Given the description of an element on the screen output the (x, y) to click on. 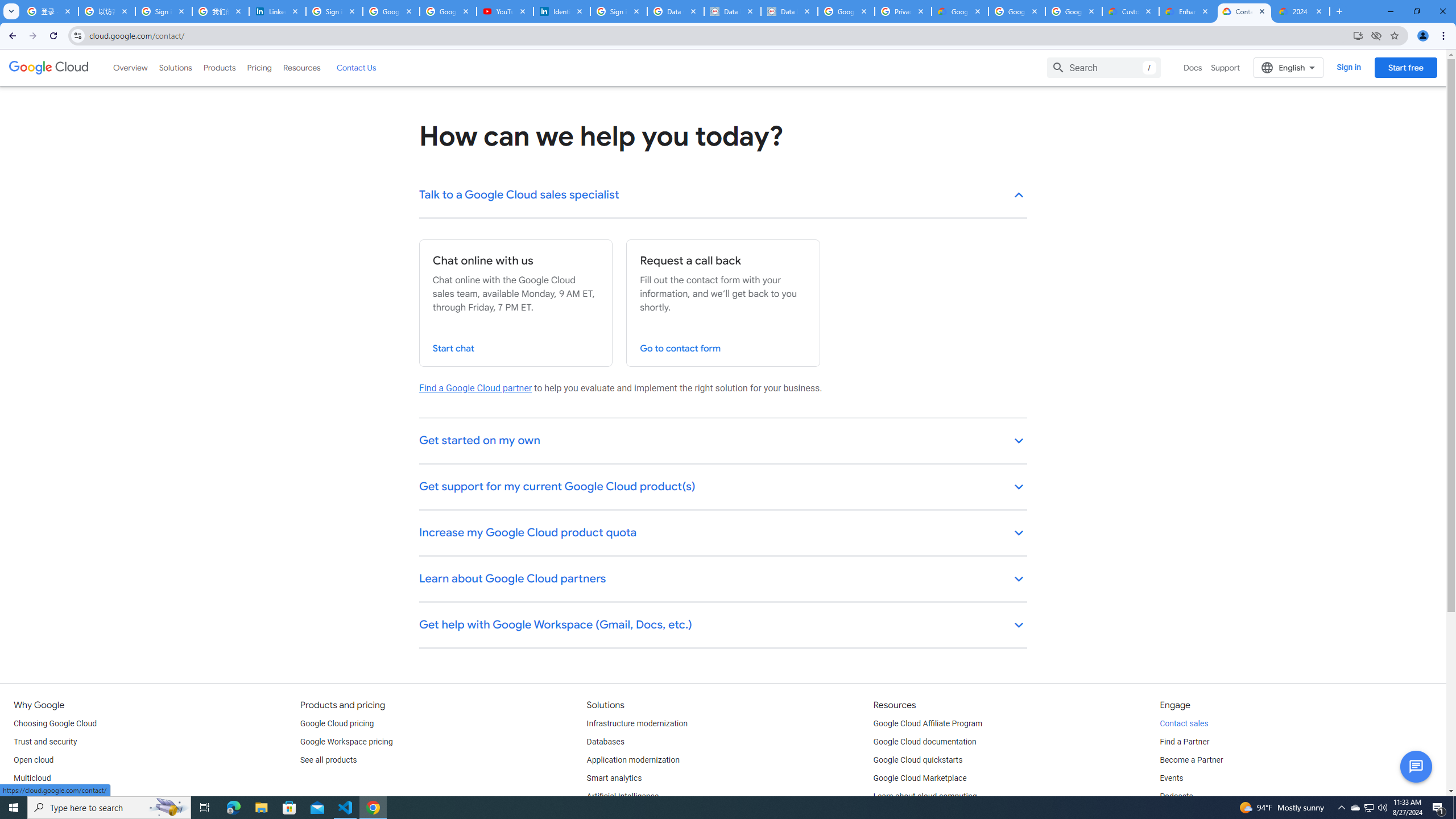
Identity verification via Persona | LinkedIn Help (561, 11)
Google Cloud documentation (924, 742)
Google Cloud Terms Directory | Google Cloud (959, 11)
Google Cloud Affiliate Program (927, 723)
Button to activate chat (1416, 766)
Resources (301, 67)
Install Google Cloud (1358, 35)
Google Cloud quickstarts (917, 760)
